Given the description of an element on the screen output the (x, y) to click on. 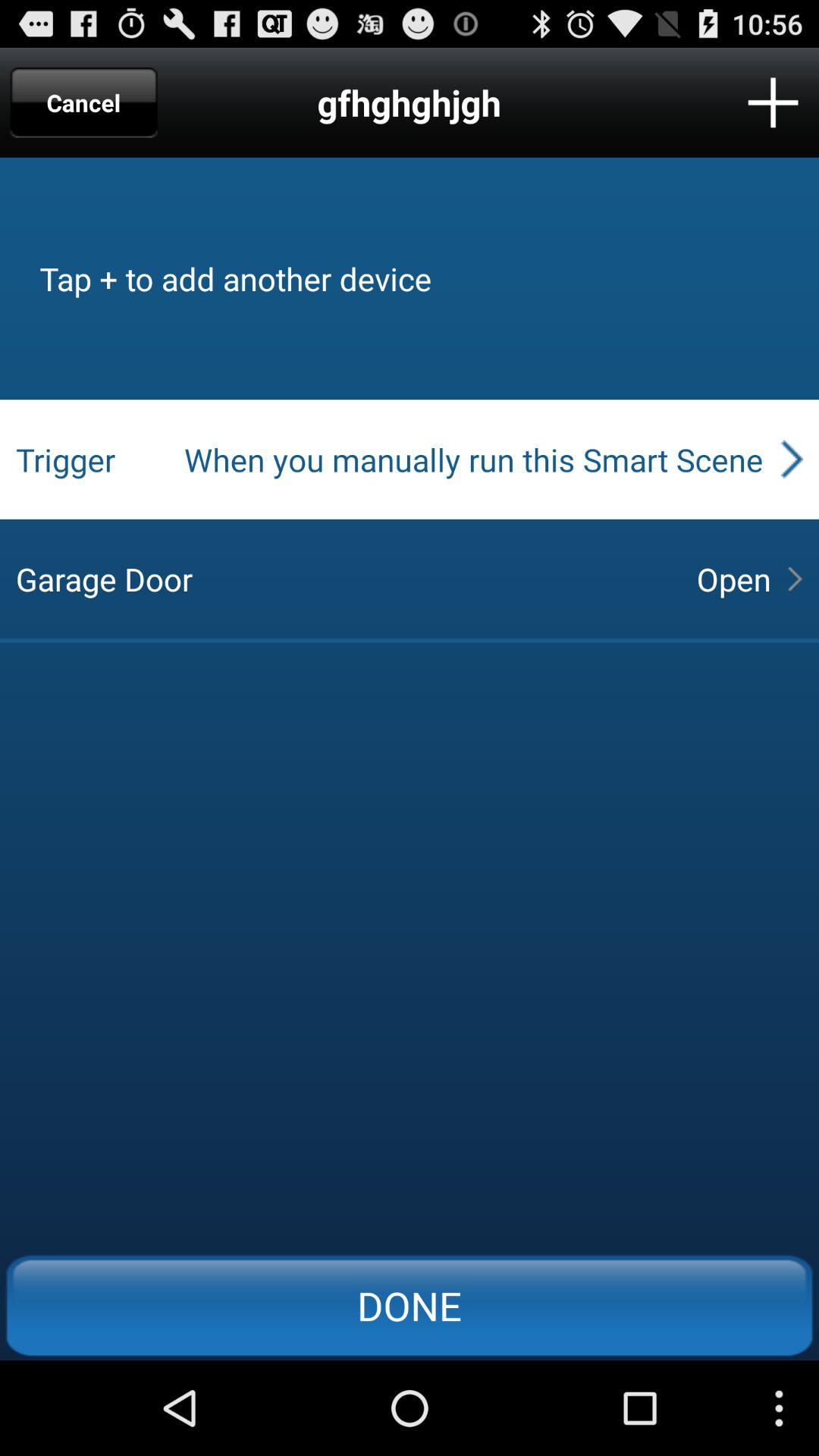
tap icon at the bottom (409, 1305)
